Given the description of an element on the screen output the (x, y) to click on. 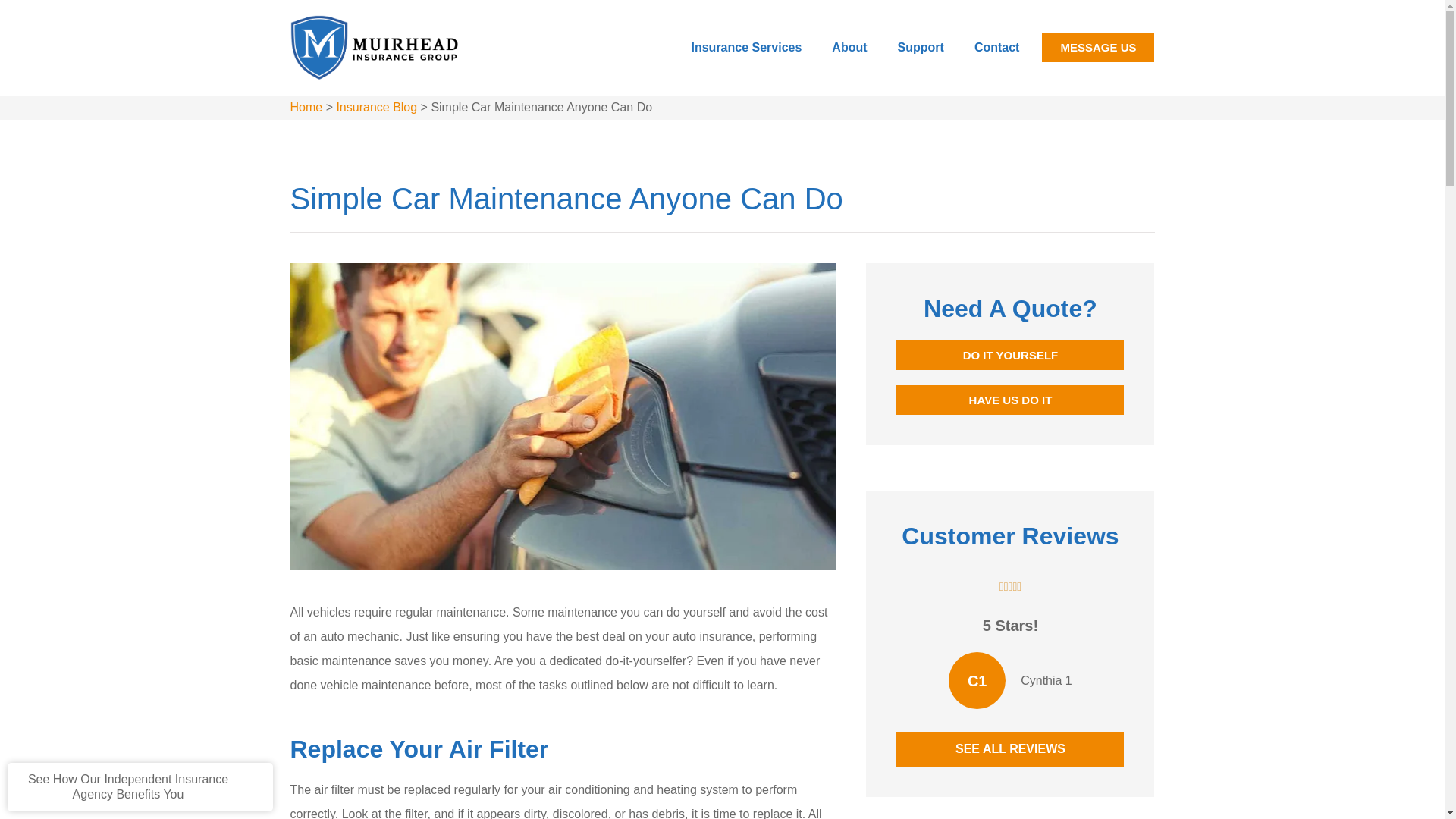
Muirhead-Group-logo-new (374, 47)
About (849, 47)
Support (920, 47)
Insurance Services (745, 47)
Contact (997, 47)
